Given the description of an element on the screen output the (x, y) to click on. 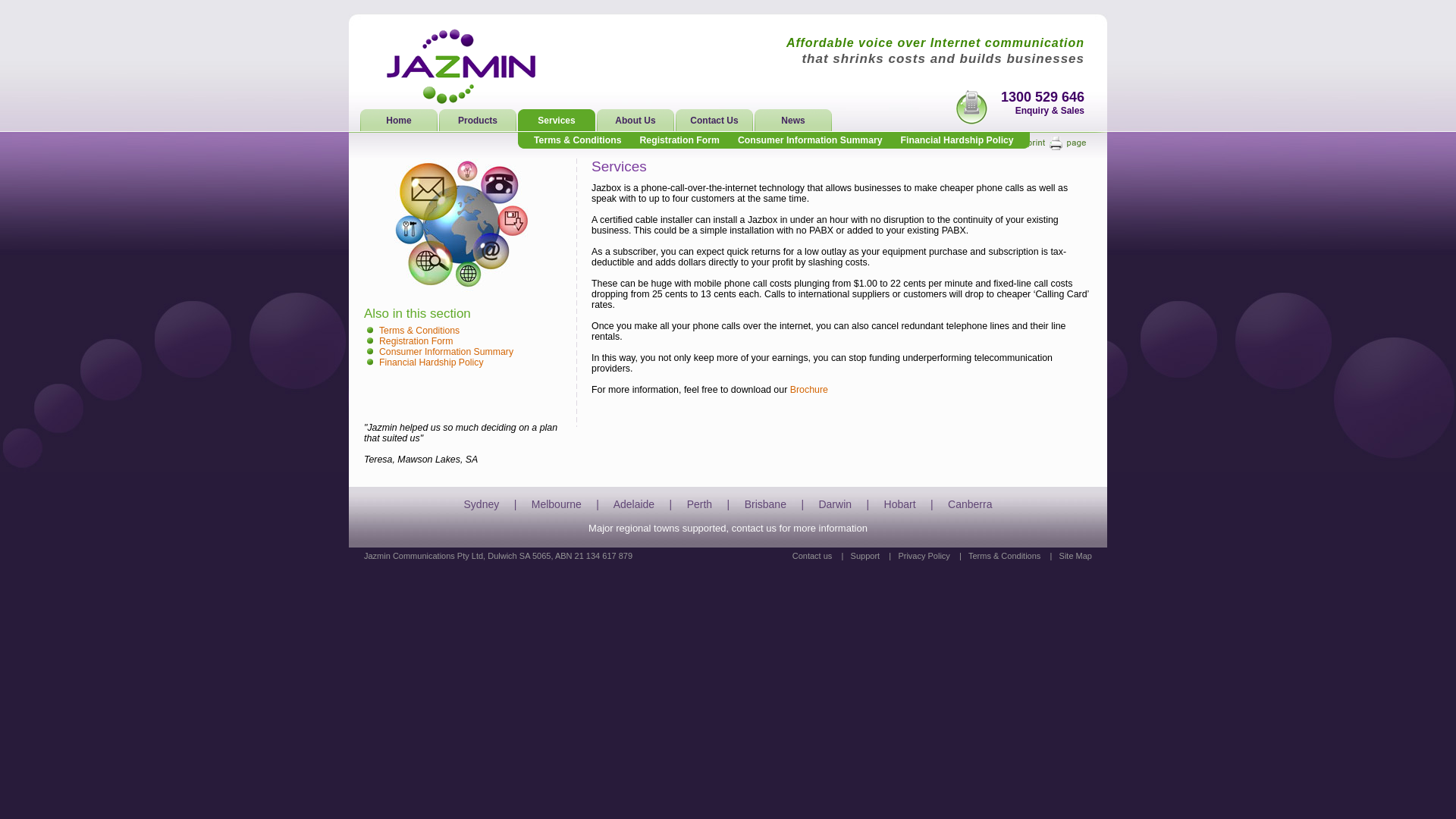
Privacy Policy Element type: text (923, 555)
Contact Us Element type: text (714, 120)
Terms & Conditions Element type: text (577, 139)
Support Element type: text (865, 555)
Site Map Element type: text (1075, 555)
About Us Element type: text (635, 120)
Financial Hardship Policy Element type: text (431, 362)
Consumer Information Summary Element type: text (809, 139)
Home Element type: text (399, 120)
Registration Form Element type: text (415, 340)
print page Element type: hover (1057, 143)
Terms & Conditions Element type: text (1004, 555)
Services Element type: text (556, 120)
Financial Hardship Policy Element type: text (956, 139)
Contact us Element type: text (812, 555)
Consumer Information Summary Element type: text (446, 351)
News Element type: text (793, 120)
Terms & Conditions Element type: text (419, 330)
Brochure Element type: text (809, 389)
phone Element type: hover (971, 106)
Back to Jazmin home Element type: hover (462, 66)
Registration Form Element type: text (679, 139)
Products Element type: text (478, 120)
